Given the description of an element on the screen output the (x, y) to click on. 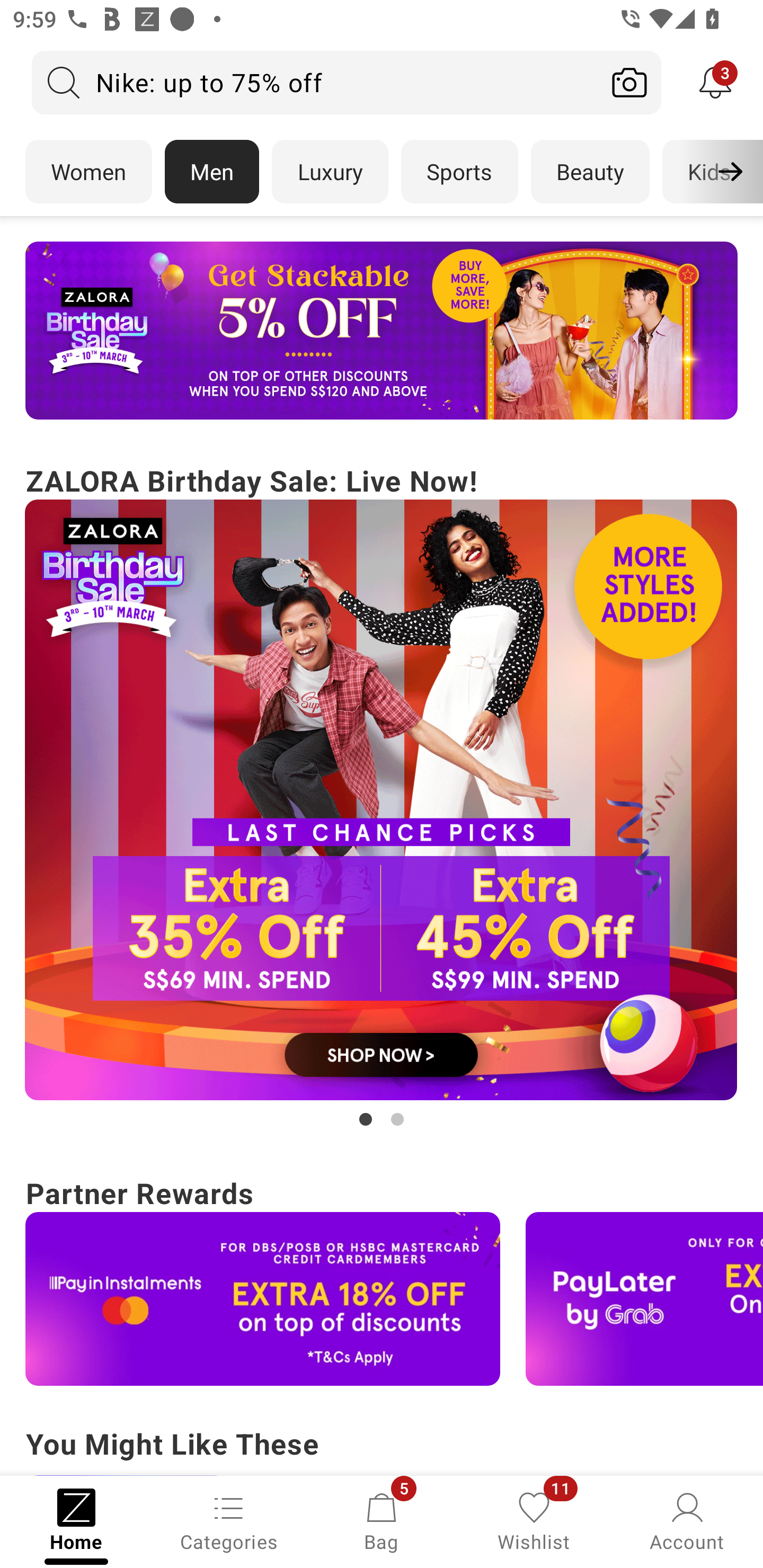
Nike: up to 75% off (314, 82)
Women (88, 171)
Men (211, 171)
Luxury (329, 171)
Sports (459, 171)
Beauty (590, 171)
Campaign banner (381, 330)
ZALORA Birthday Sale: Live Now! Campaign banner (381, 794)
Campaign banner (381, 800)
Partner Rewards Campaign banner Campaign banner (381, 1277)
Campaign banner (262, 1299)
Campaign banner (644, 1299)
Categories (228, 1519)
Bag, 5 new notifications Bag (381, 1519)
Wishlist, 11 new notifications Wishlist (533, 1519)
Account (686, 1519)
